Given the description of an element on the screen output the (x, y) to click on. 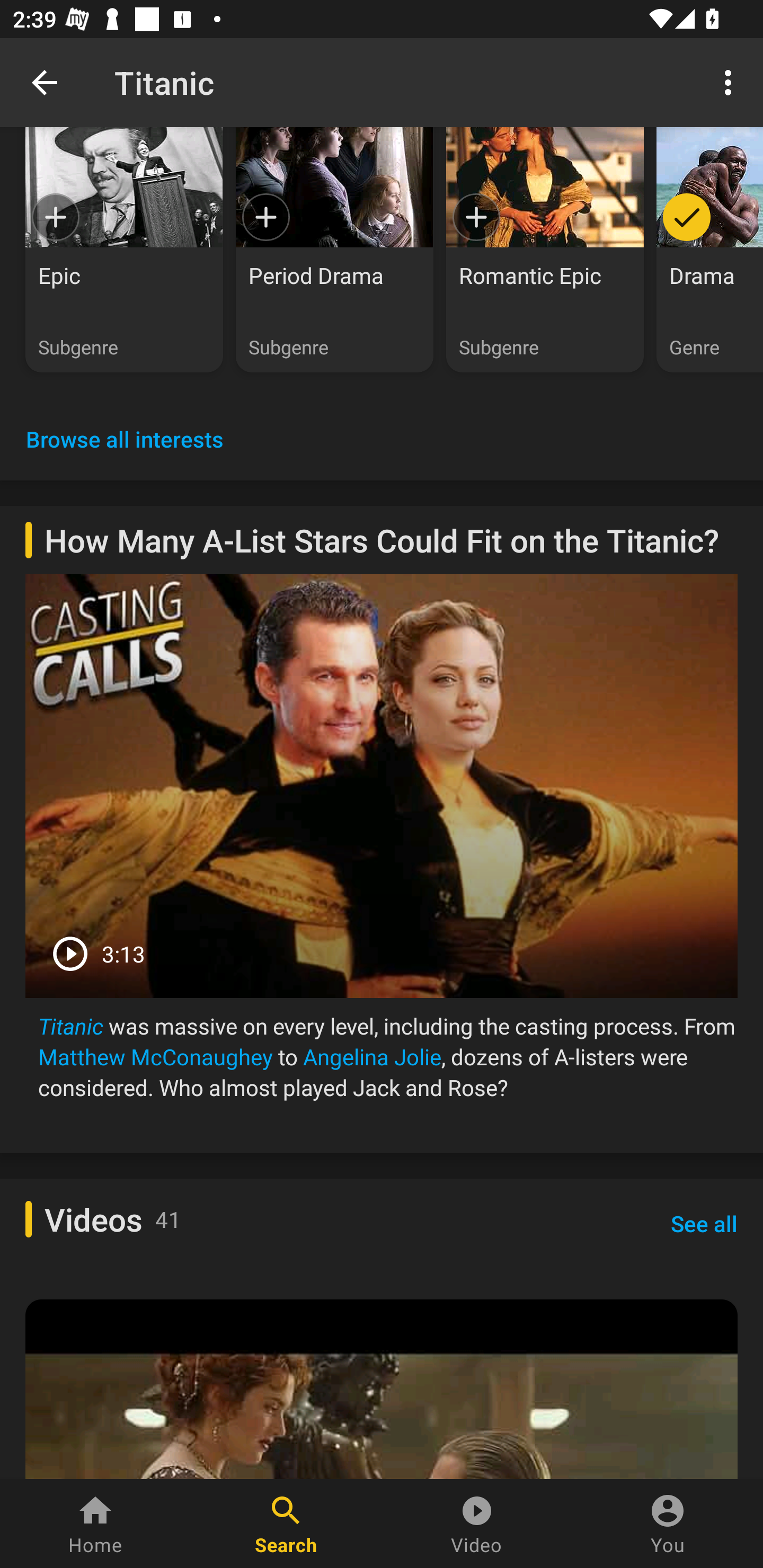
More options (731, 81)
Epic Subgenre (123, 250)
Period Drama Subgenre (334, 250)
Romantic Epic Subgenre (544, 250)
Drama Genre (709, 250)
Browse all interests (124, 438)
See all See all Videos (703, 1223)
Home (95, 1523)
Video (476, 1523)
You (667, 1523)
